Given the description of an element on the screen output the (x, y) to click on. 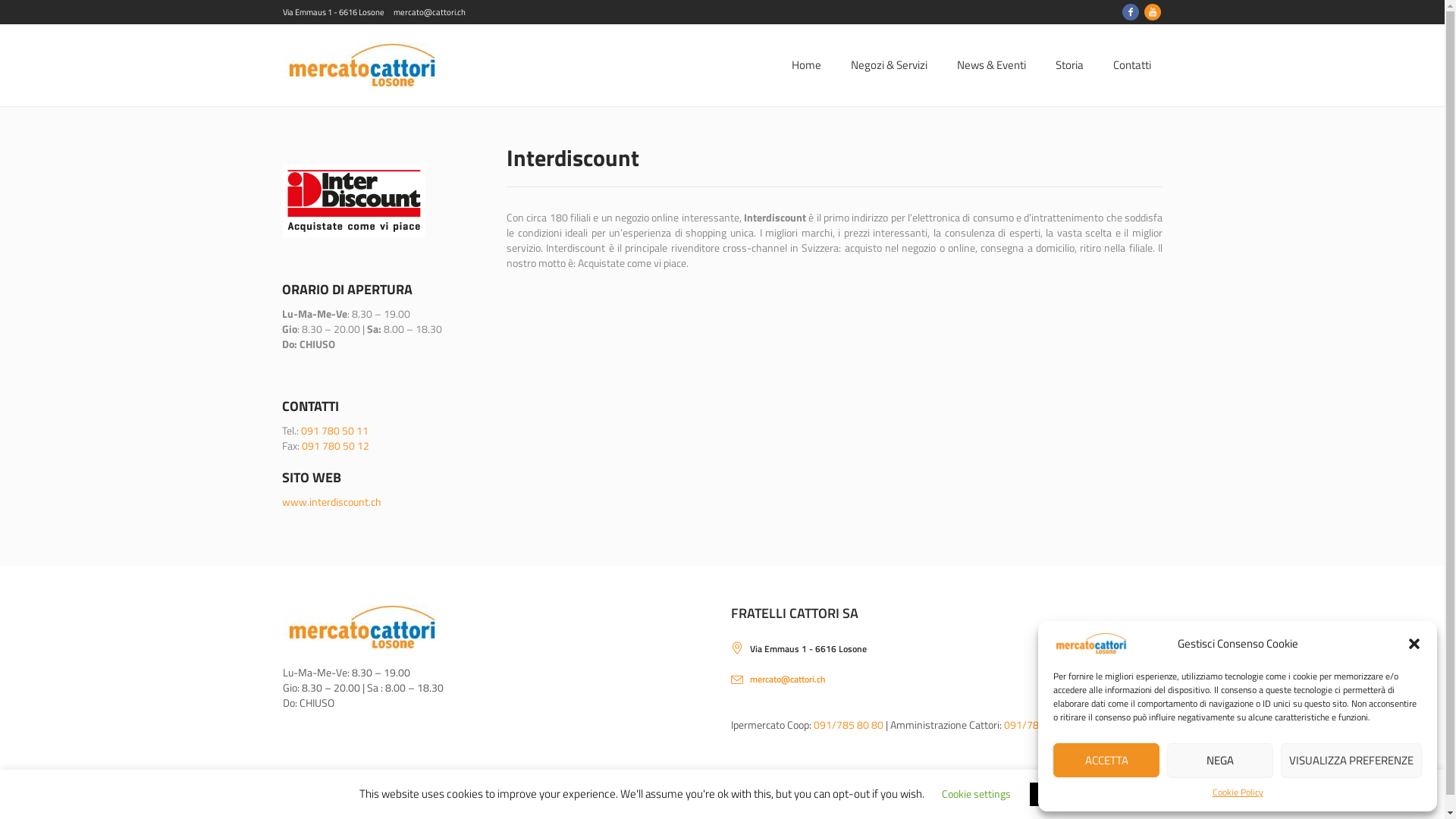
News & Eventi Element type: text (990, 64)
091/785 80 80 Element type: text (848, 724)
Facebook Element type: hover (1130, 11)
ACCEPT Element type: text (1055, 794)
Home Element type: text (805, 64)
091 780 50 11 Element type: text (334, 430)
Cookie Policy Element type: text (1236, 792)
VISUALIZZA PREFERENZE Element type: text (1350, 760)
Cookie settings Element type: text (975, 793)
www.interdiscount.ch Element type: text (331, 501)
091/786 98 20 Element type: text (1038, 724)
Negozi & Servizi Element type: text (888, 64)
Contatti Element type: text (1131, 64)
ACCETTA Element type: text (1106, 760)
mercato@cattori.ch Element type: text (787, 678)
Storia Element type: text (1068, 64)
NEGA Element type: text (1220, 760)
091 780 50 12 Element type: text (335, 445)
